Given the description of an element on the screen output the (x, y) to click on. 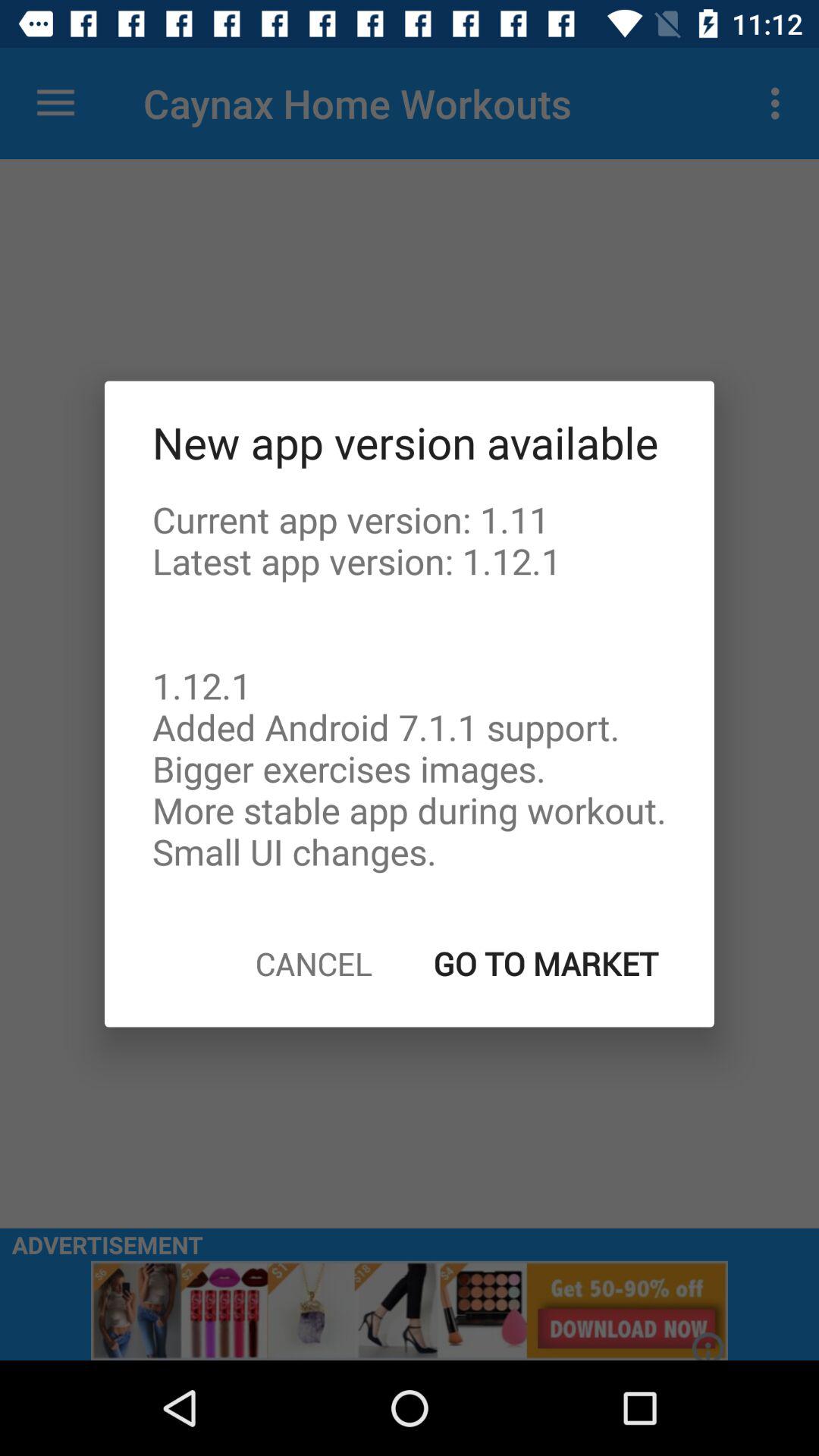
launch the item next to the cancel (545, 963)
